Given the description of an element on the screen output the (x, y) to click on. 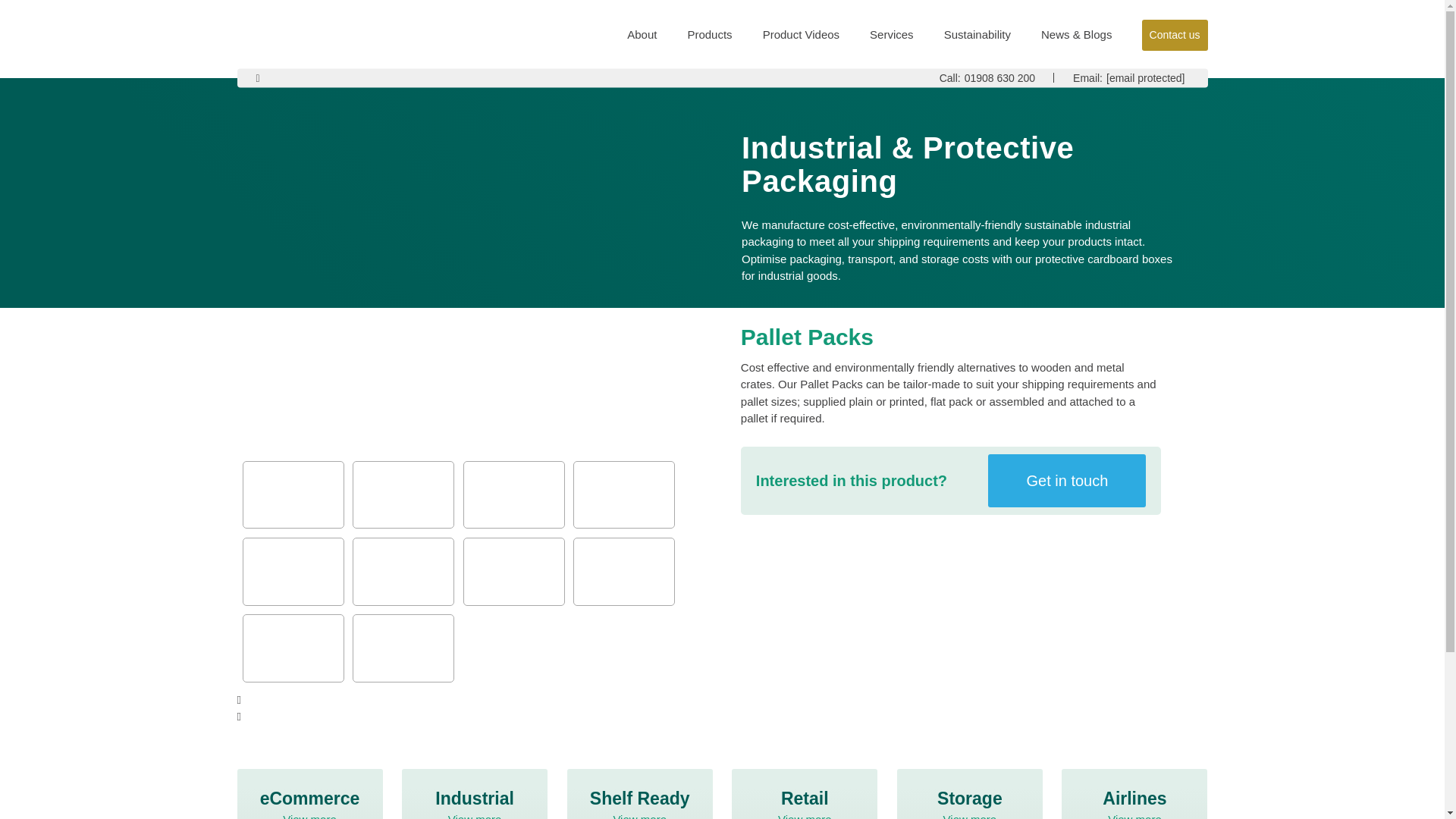
01908 630 200 (804, 794)
Sustainability (999, 77)
Products (977, 34)
About (708, 34)
Get in touch (308, 794)
